Given the description of an element on the screen output the (x, y) to click on. 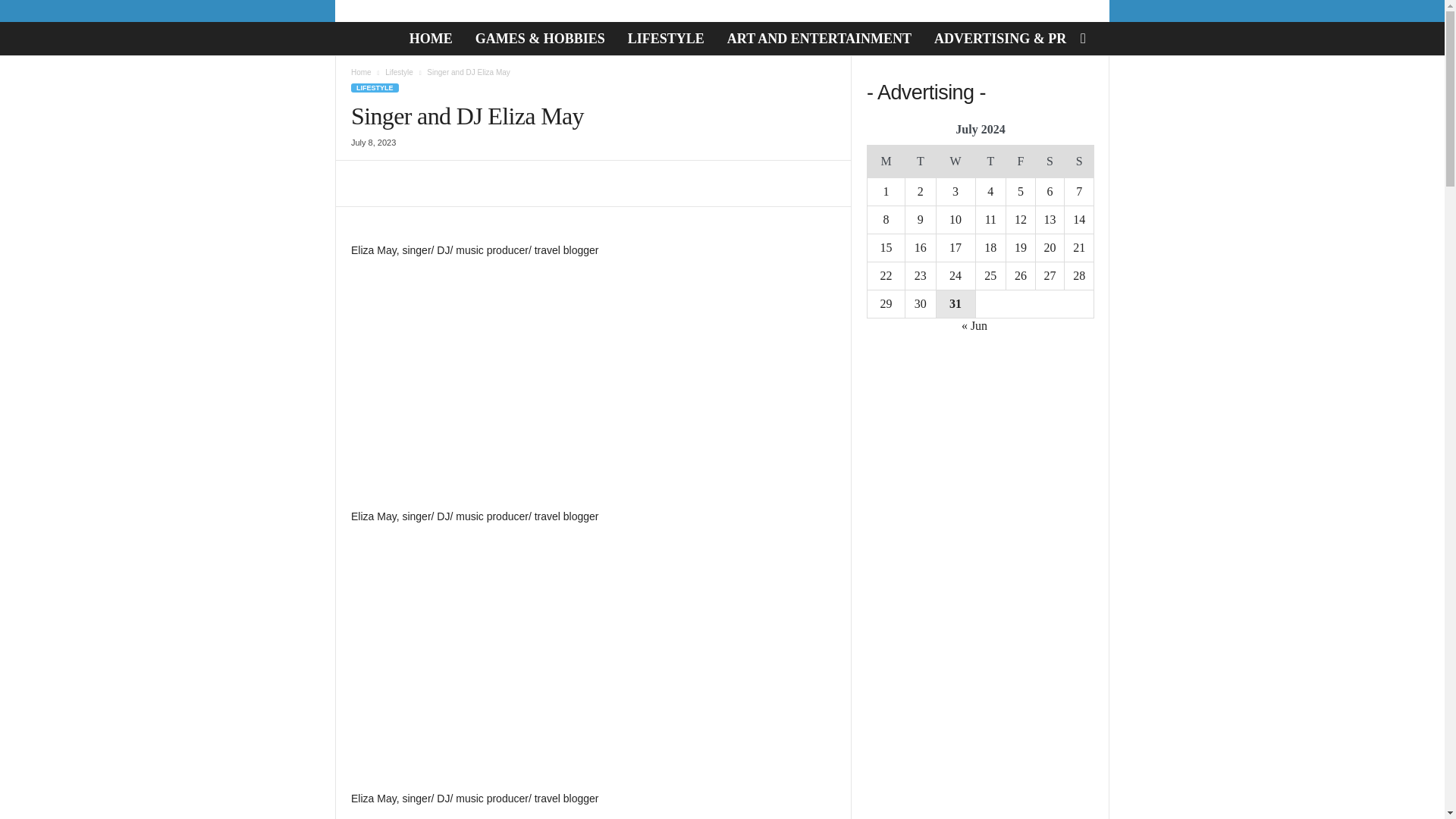
HOME (486, 10)
ART AND ENTERTAINMENT (713, 10)
View all posts in Lifestyle (399, 71)
Analog Photo Day (357, 38)
HOME (430, 38)
LIFESTYLE (624, 10)
LIFESTYLE (665, 38)
Home (360, 71)
ART AND ENTERTAINMENT (819, 38)
LIFESTYLE (374, 87)
Analog Photo Day (365, 39)
Lifestyle (399, 71)
